Given the description of an element on the screen output the (x, y) to click on. 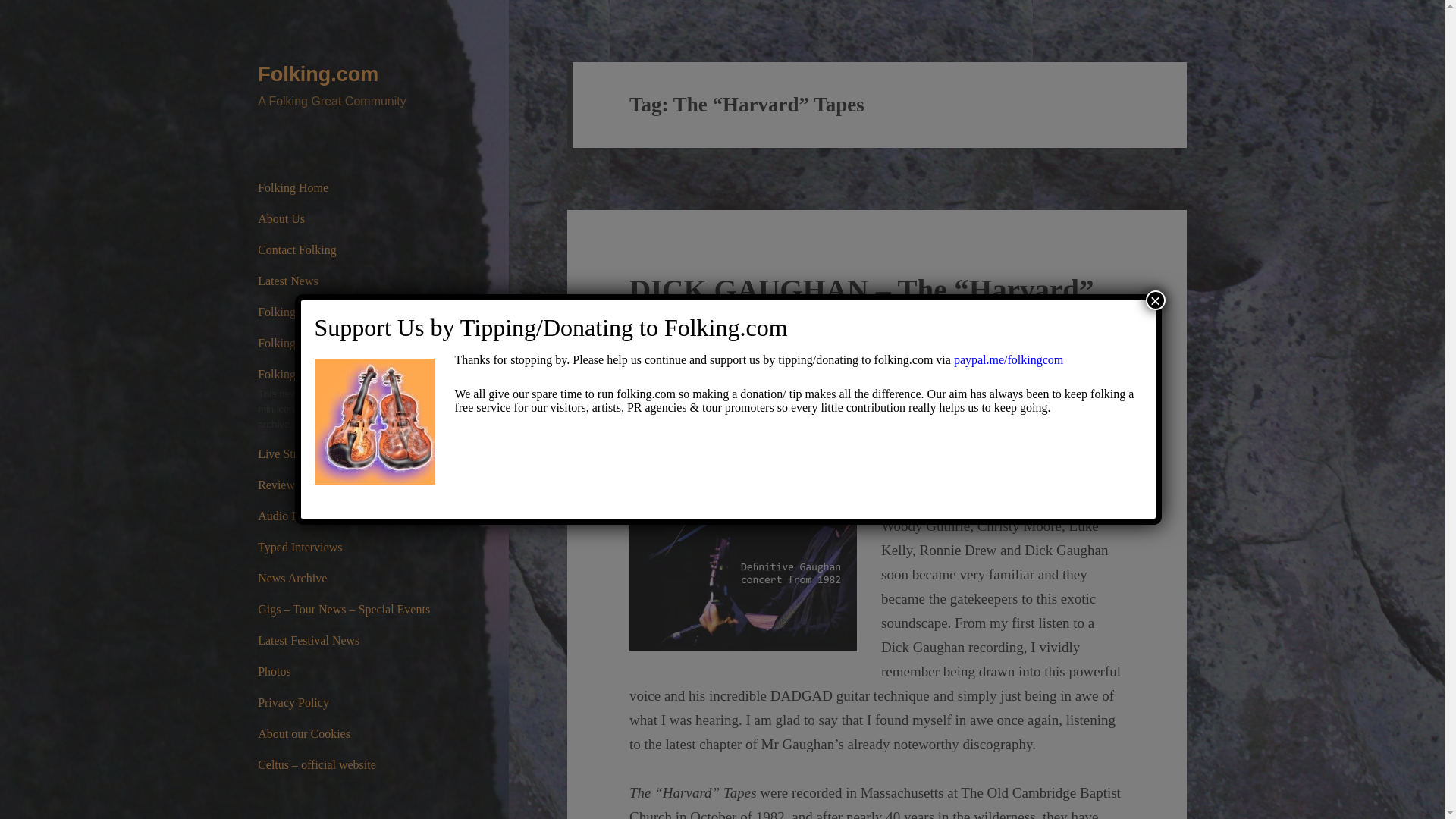
Folking Home (350, 187)
Folking Social Media Feeds (350, 343)
Live Streams (350, 453)
News Archive (350, 578)
Typed Interviews (350, 547)
Latest News (350, 281)
Folking Awards (350, 312)
Privacy Policy (350, 702)
Audio Interviews (350, 516)
Contact Folking (350, 250)
Folking.com (317, 74)
Latest Festival News (350, 640)
About Us (350, 218)
Reviews (350, 485)
